Given the description of an element on the screen output the (x, y) to click on. 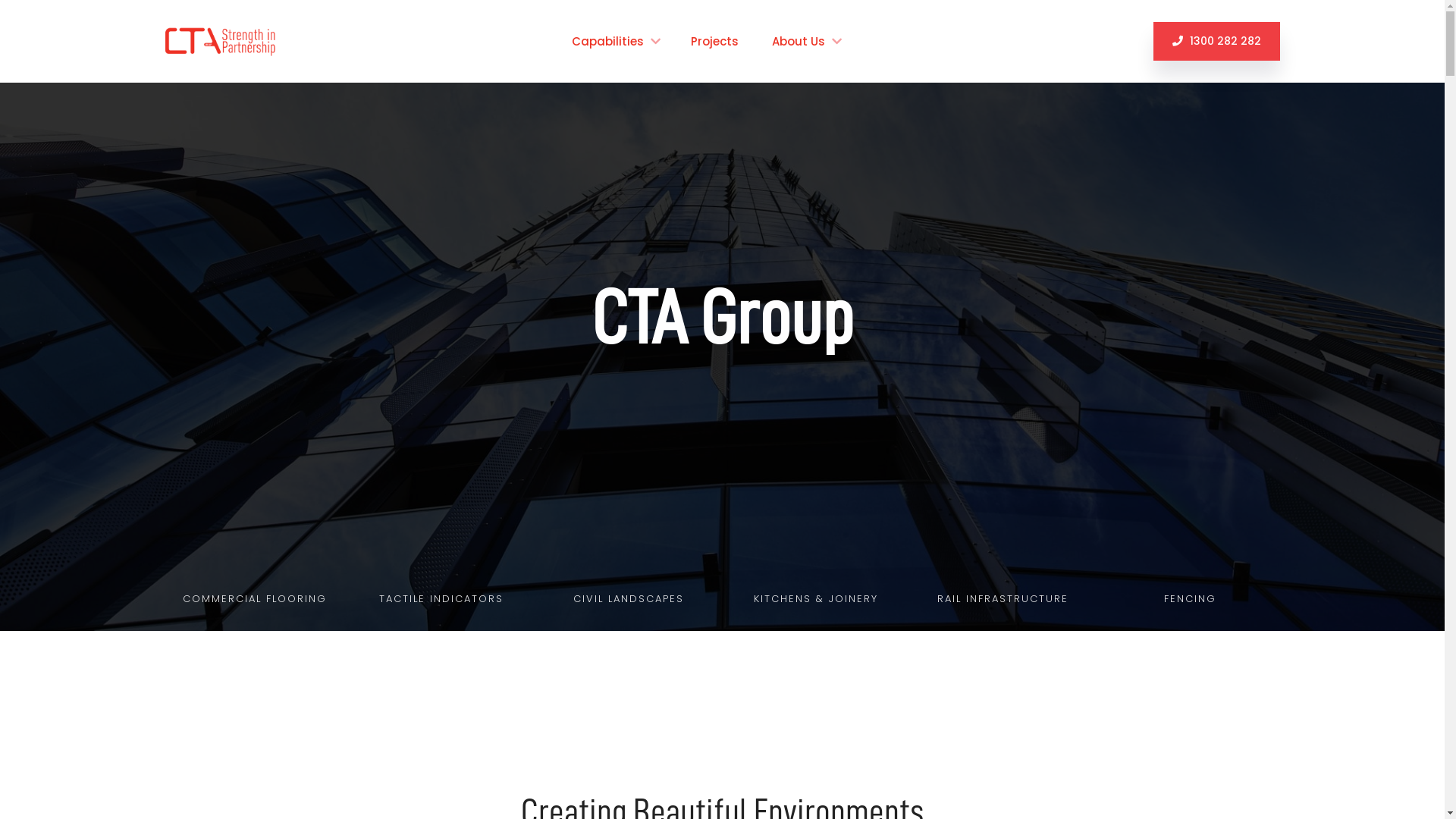
CIVIL LANDSCAPES Element type: text (628, 599)
1300 282 282 Element type: text (1215, 40)
TACTILE INDICATORS Element type: text (441, 599)
RAIL INFRASTRUCTURE Element type: text (1002, 599)
Projects  Element type: text (715, 41)
About Us Element type: text (806, 41)
Capabilities Element type: text (615, 41)
COMMERCIAL FLOORING Element type: text (254, 599)
KITCHENS & JOINERY Element type: text (815, 599)
FENCING Element type: text (1189, 599)
